Given the description of an element on the screen output the (x, y) to click on. 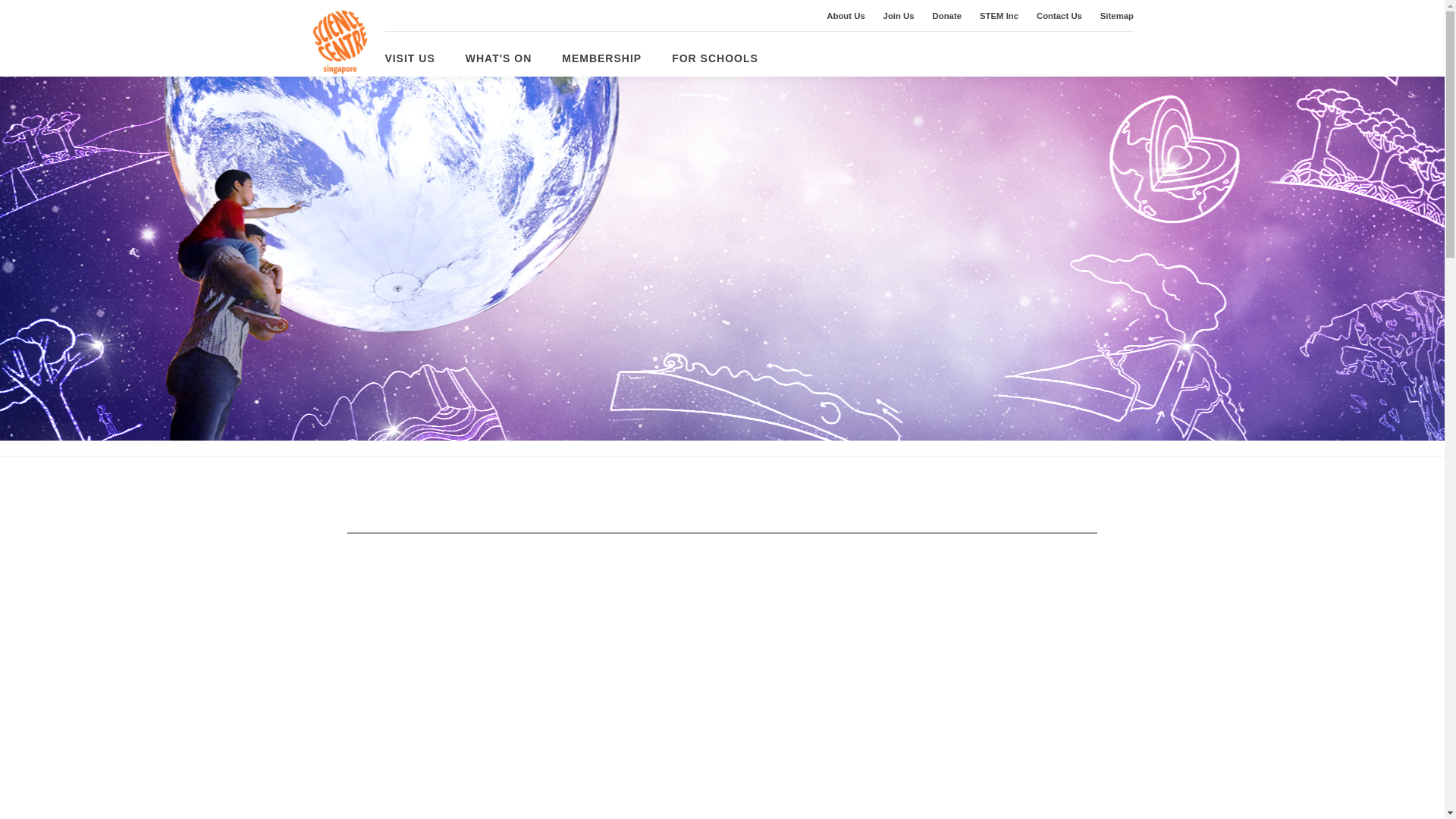
Join Us (898, 15)
FOR SCHOOLS (714, 58)
STEM Inc (998, 15)
About Us (845, 15)
Donate (947, 15)
VISIT US (408, 58)
MEMBERSHIP (602, 58)
WHAT'S ON (498, 58)
Sitemap (1117, 15)
Contact Us (1058, 15)
